Given the description of an element on the screen output the (x, y) to click on. 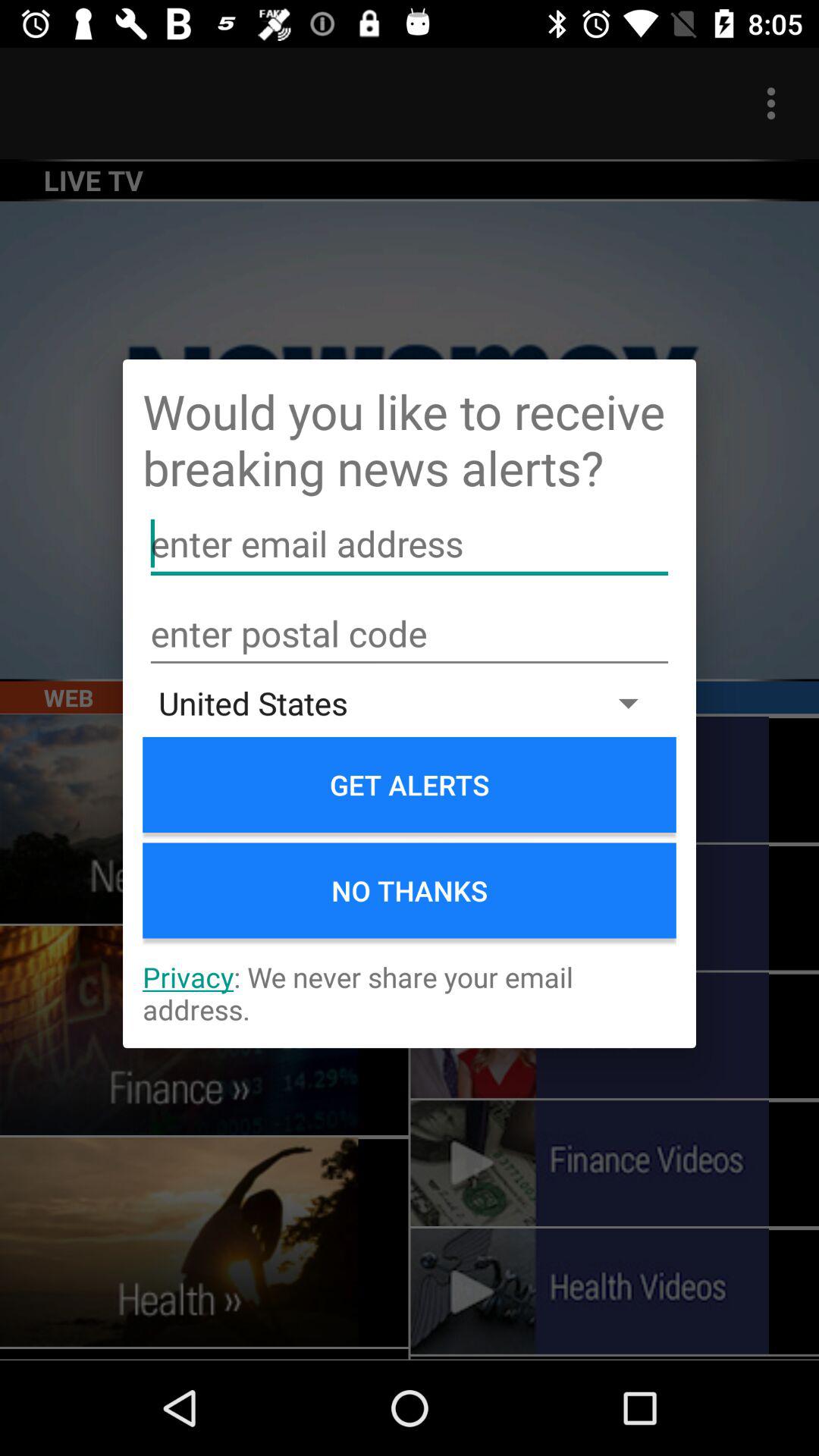
change in mobile no to using mnp (409, 634)
